Given the description of an element on the screen output the (x, y) to click on. 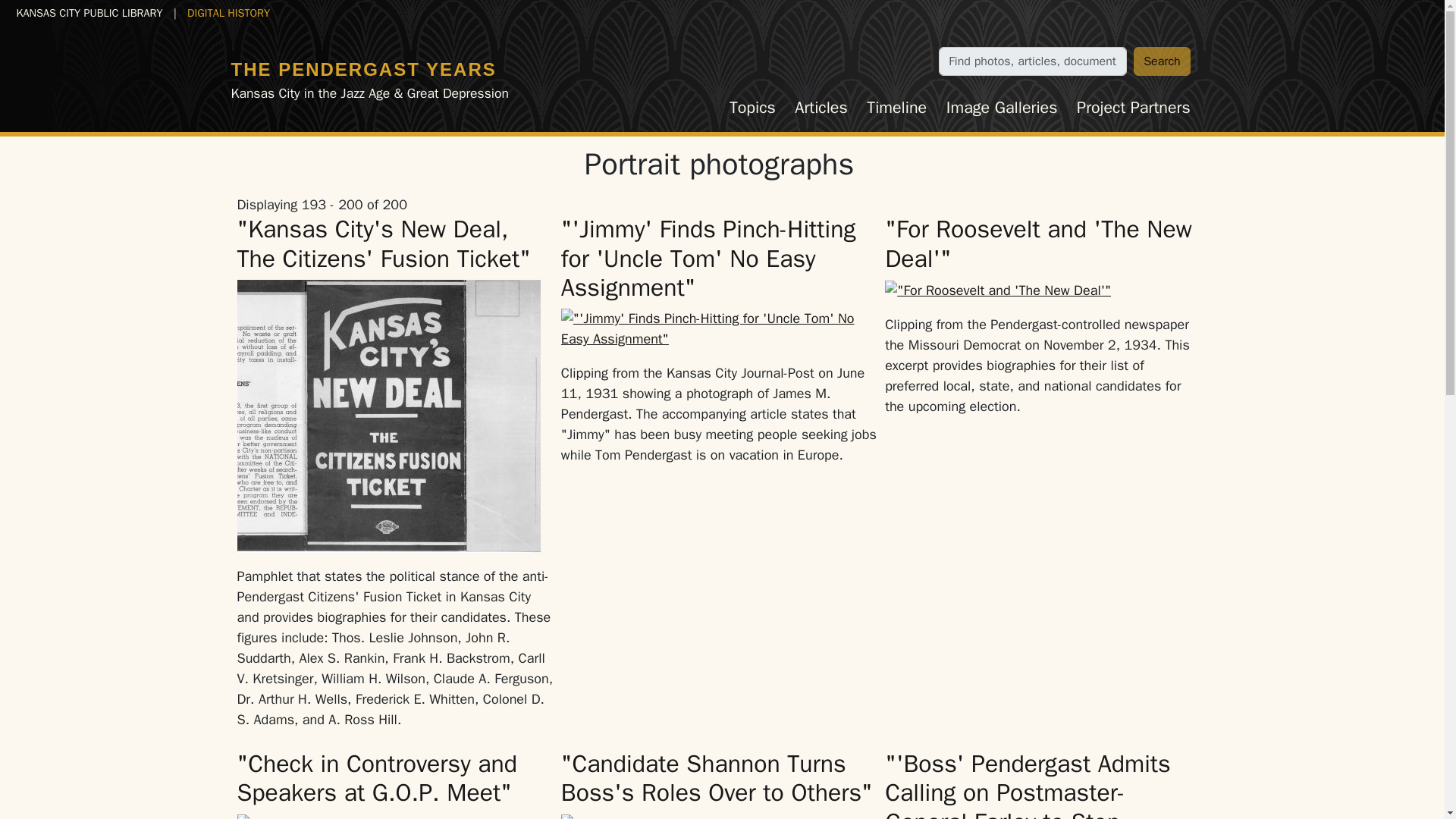
Skip to main content (67, 11)
"For Roosevelt and 'The New Deal'" (1038, 243)
THE PENDERGAST YEARS (363, 68)
Timeline (897, 107)
Image Galleries (1001, 107)
"Candidate Shannon Turns Boss's Roles Over to Others" (716, 778)
"Check in Controversy and Speakers at G.O.P. Meet" (375, 778)
Search (1162, 61)
DIGITAL HISTORY (228, 12)
Search (1162, 61)
Topics (751, 107)
Project Partners (1133, 107)
Home (363, 68)
